Given the description of an element on the screen output the (x, y) to click on. 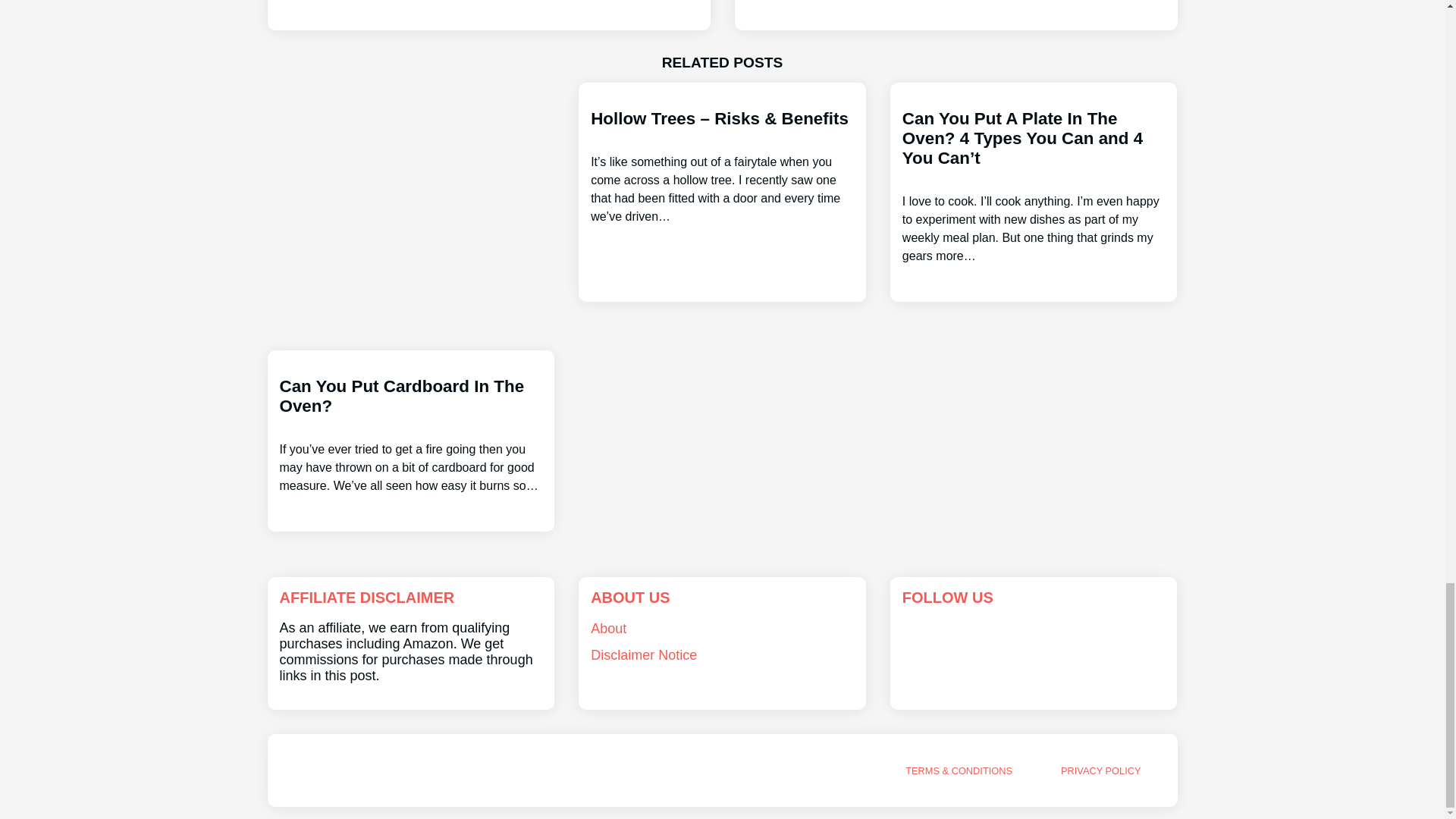
About (608, 628)
PRIVACY POLICY (1101, 770)
Disclaimer Notice (644, 654)
Can You Put Cardboard In The Oven? (410, 447)
